Given the description of an element on the screen output the (x, y) to click on. 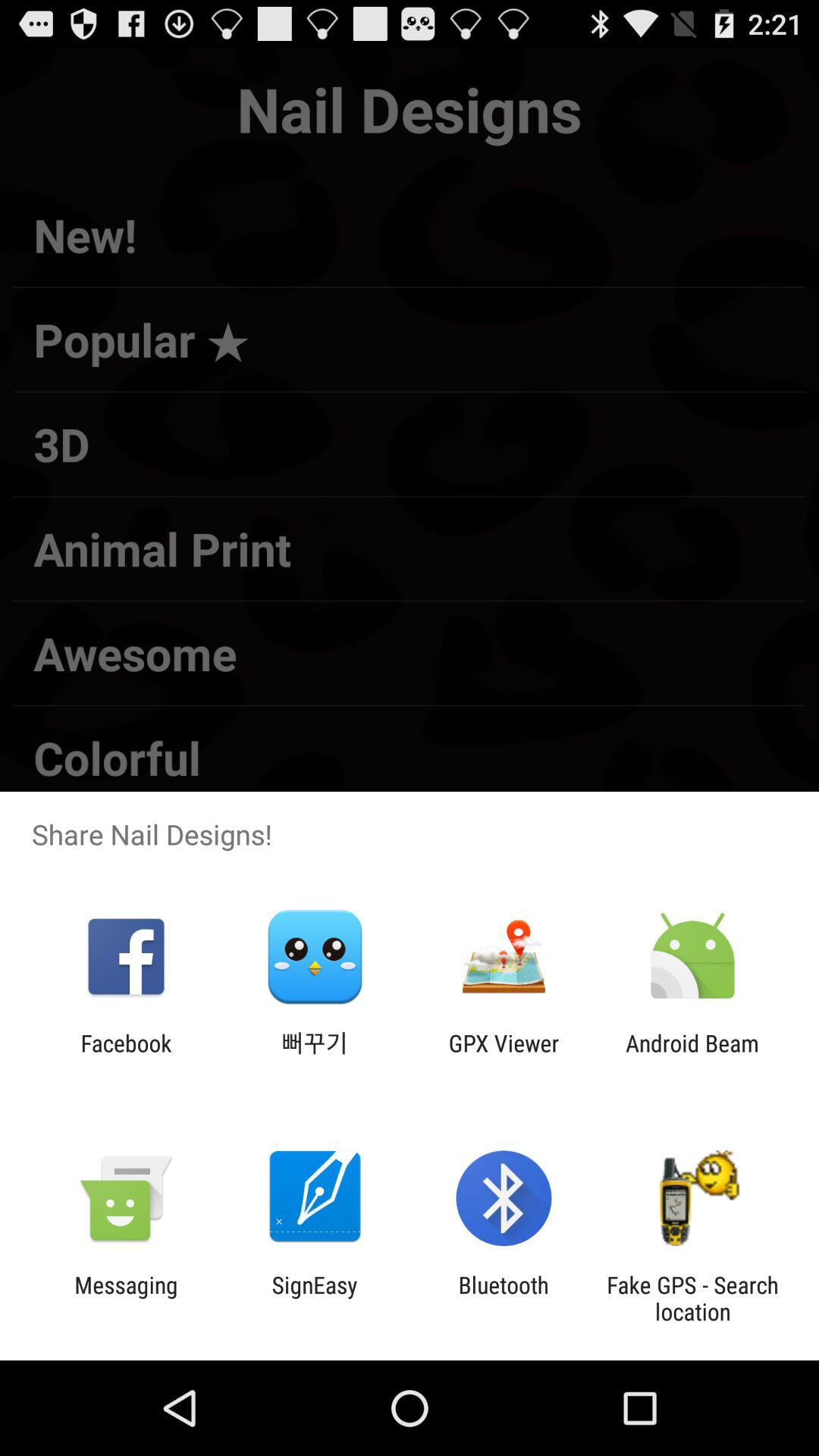
open item next to bluetooth item (314, 1298)
